Given the description of an element on the screen output the (x, y) to click on. 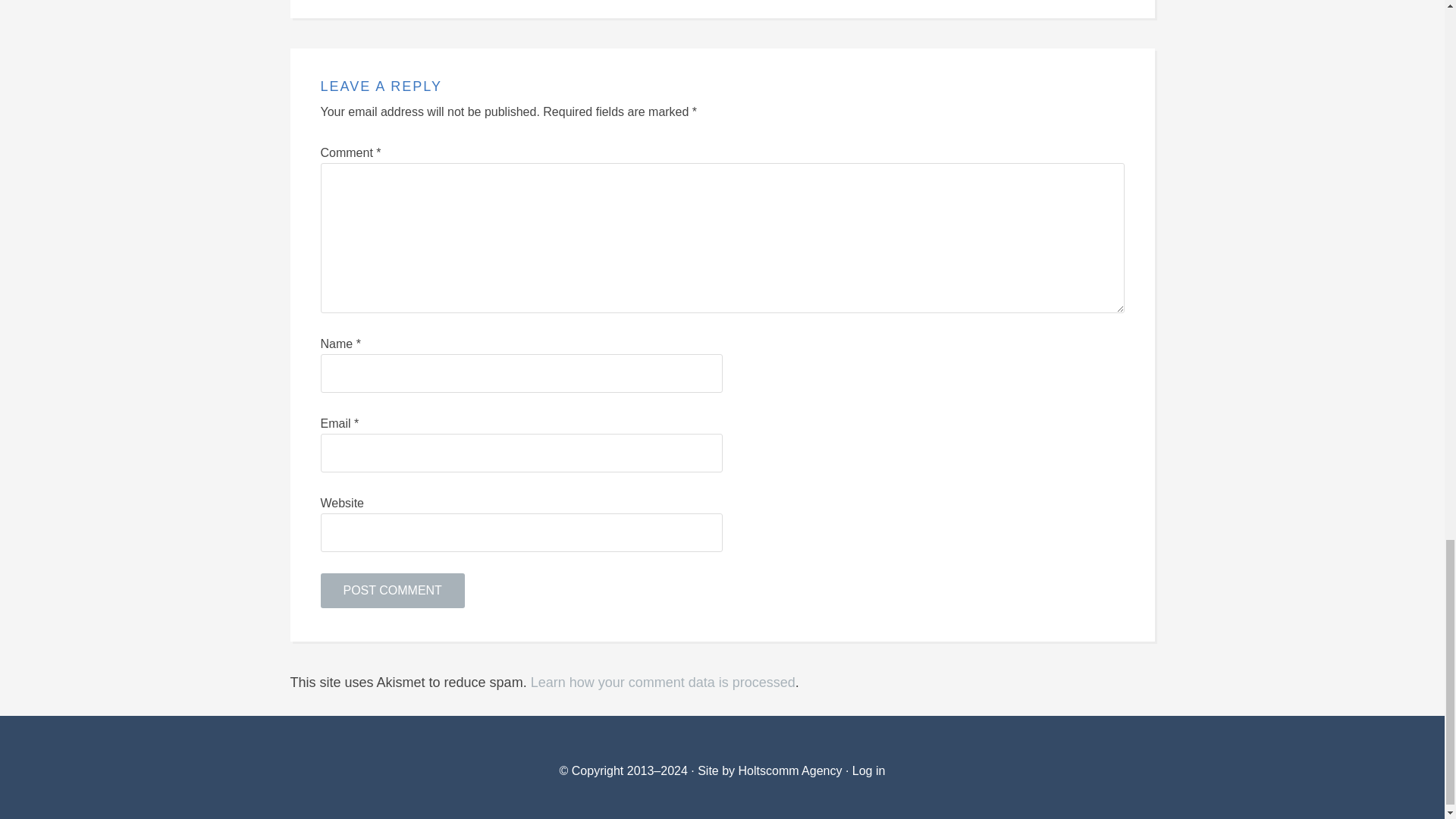
Post Comment (392, 590)
Holtscomm Agency (788, 770)
Learn how your comment data is processed (662, 682)
Log in (868, 770)
Post Comment (392, 590)
